Given the description of an element on the screen output the (x, y) to click on. 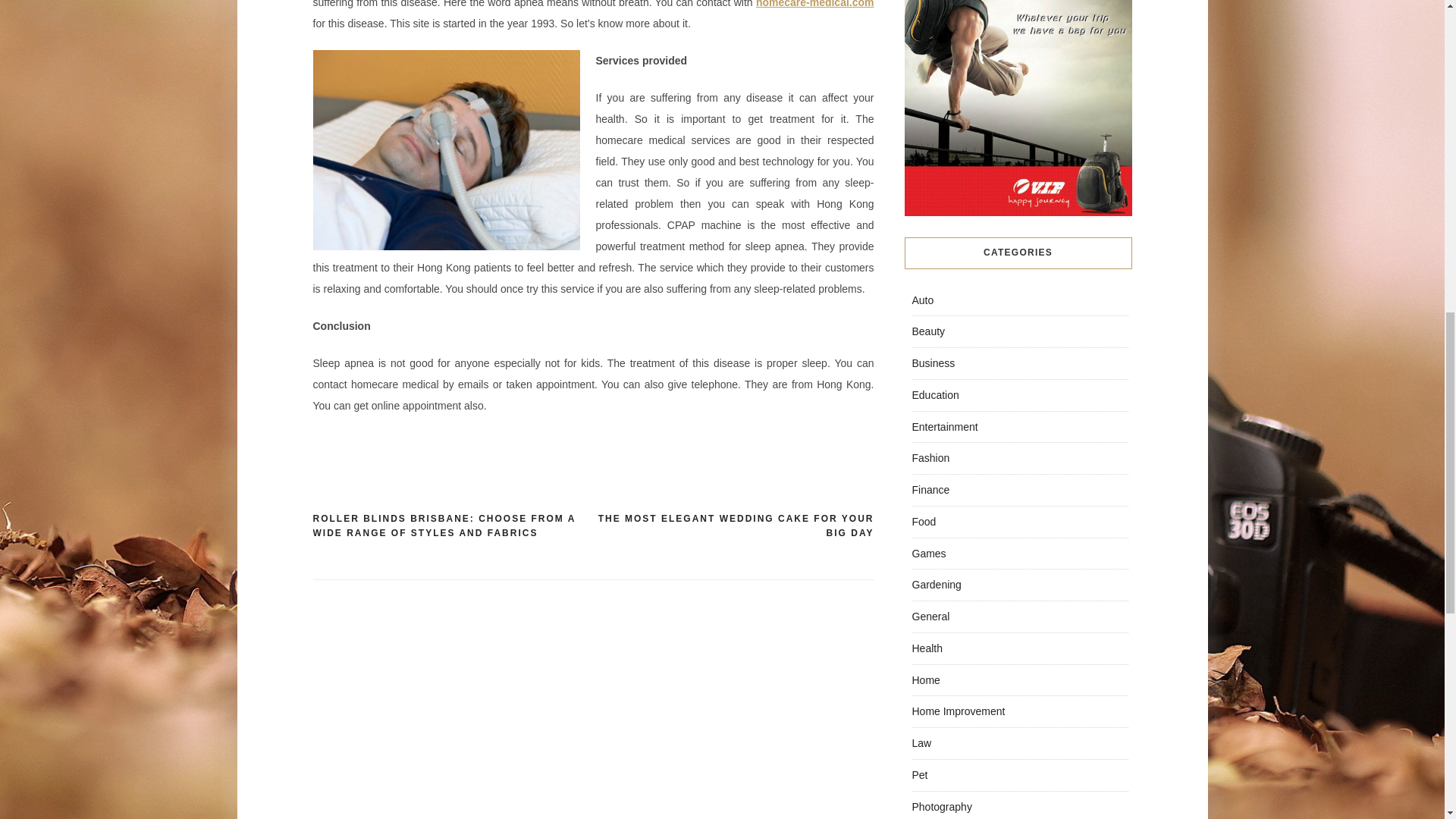
Beauty (927, 331)
Fashion (930, 458)
Finance (930, 490)
Education (934, 395)
Games (927, 553)
Food (923, 521)
General (930, 616)
Entertainment (943, 426)
Auto (922, 300)
Business (933, 363)
Gardening (935, 584)
THE MOST ELEGANT WEDDING CAKE FOR YOUR BIG DAY (732, 526)
homecare-medical.com (815, 4)
